Given the description of an element on the screen output the (x, y) to click on. 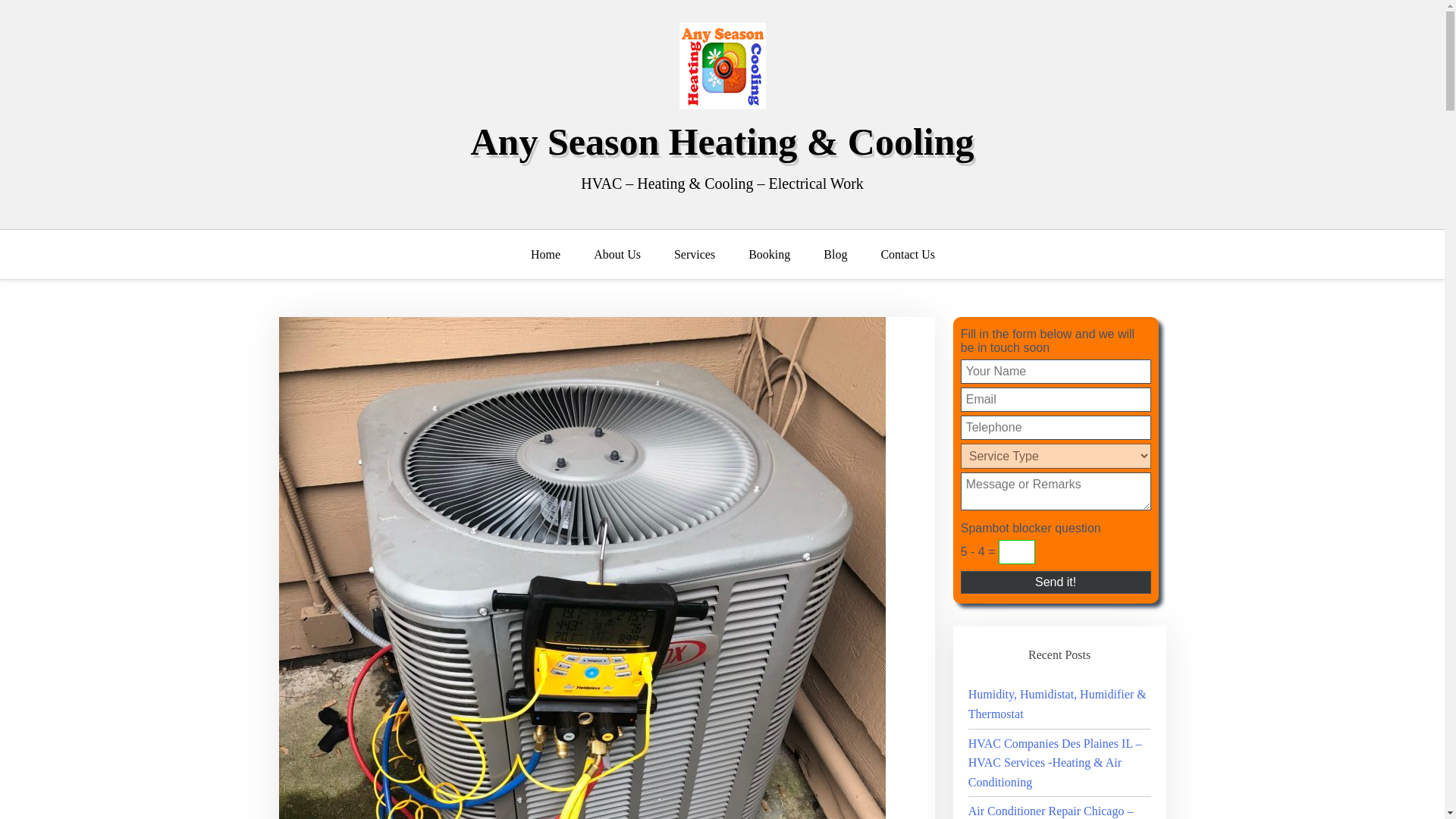
Send it! (1055, 581)
About Us (617, 255)
Send it! (1055, 581)
Services (694, 255)
Booking (769, 255)
Blog (834, 255)
Home (553, 255)
Contact Us (907, 255)
